Given the description of an element on the screen output the (x, y) to click on. 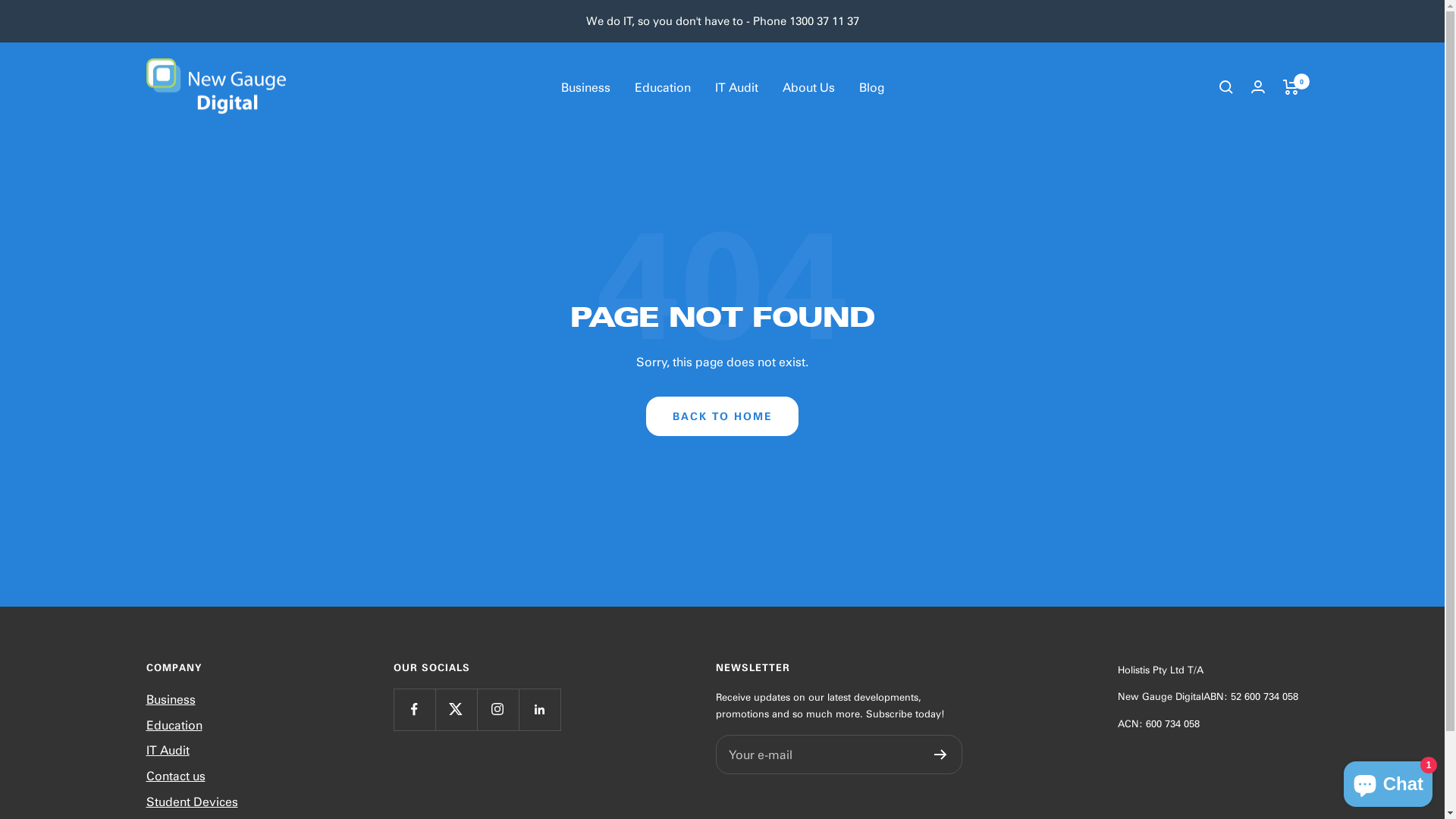
Education Element type: text (661, 86)
Contact us Element type: text (174, 775)
0 Element type: text (1291, 86)
IT Audit Element type: text (166, 749)
BACK TO HOME Element type: text (722, 416)
About Us Element type: text (808, 86)
Business Element type: text (585, 86)
Student Devices Element type: text (191, 801)
IT Audit Element type: text (735, 86)
Business Element type: text (169, 698)
Blog Element type: text (870, 86)
Register Element type: hover (940, 754)
Shopify online store chat Element type: hover (1388, 780)
New Gauge Digital Element type: text (215, 87)
Education Element type: text (173, 724)
